Given the description of an element on the screen output the (x, y) to click on. 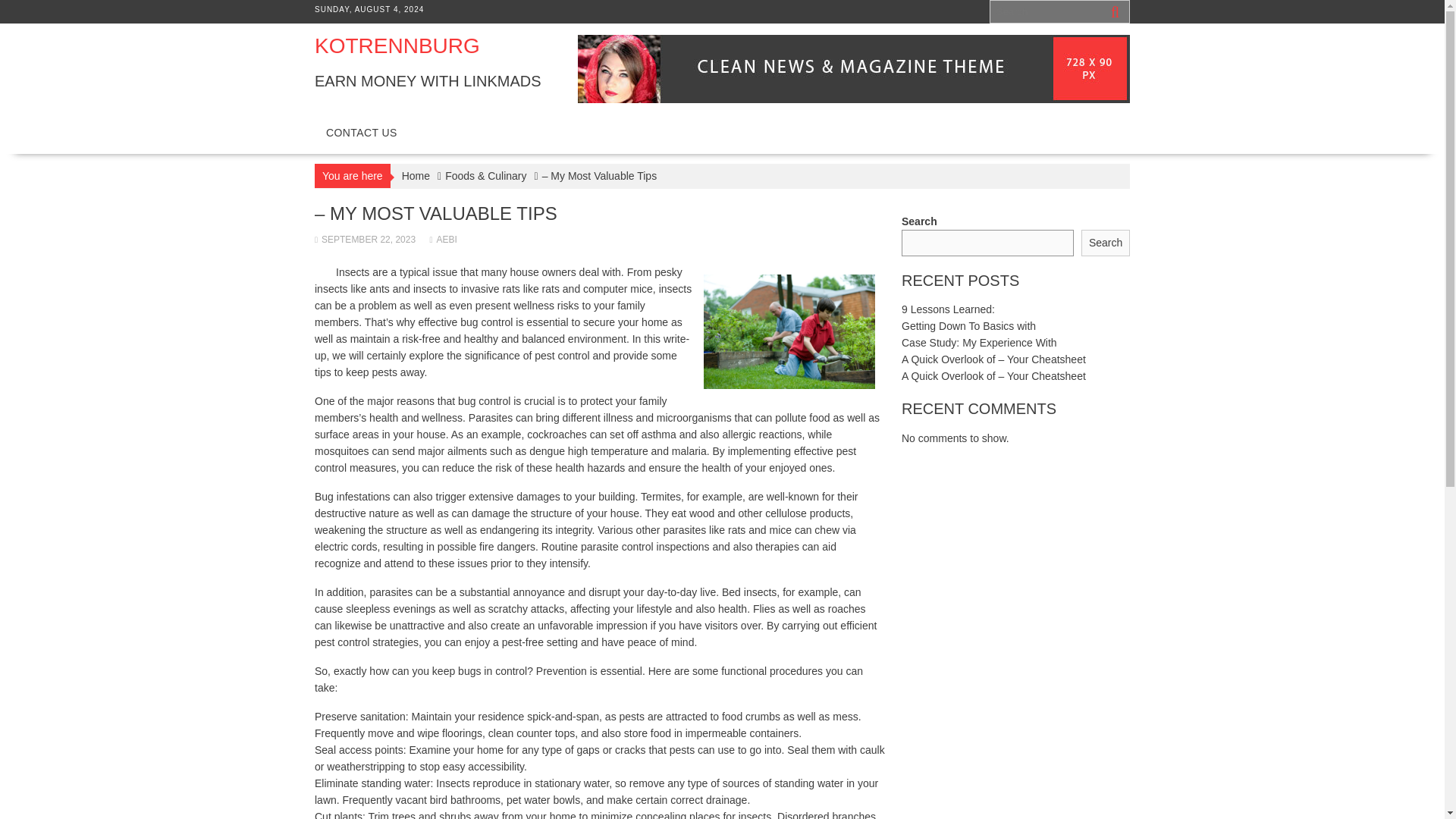
SEPTEMBER 22, 2023 (364, 239)
Case Study: My Experience With (979, 342)
CONTACT US (361, 132)
AEBI (443, 239)
9 Lessons Learned: (947, 309)
Home (415, 175)
KOTRENNBURG (397, 45)
Getting Down To Basics with (968, 326)
Search (1105, 243)
